Given the description of an element on the screen output the (x, y) to click on. 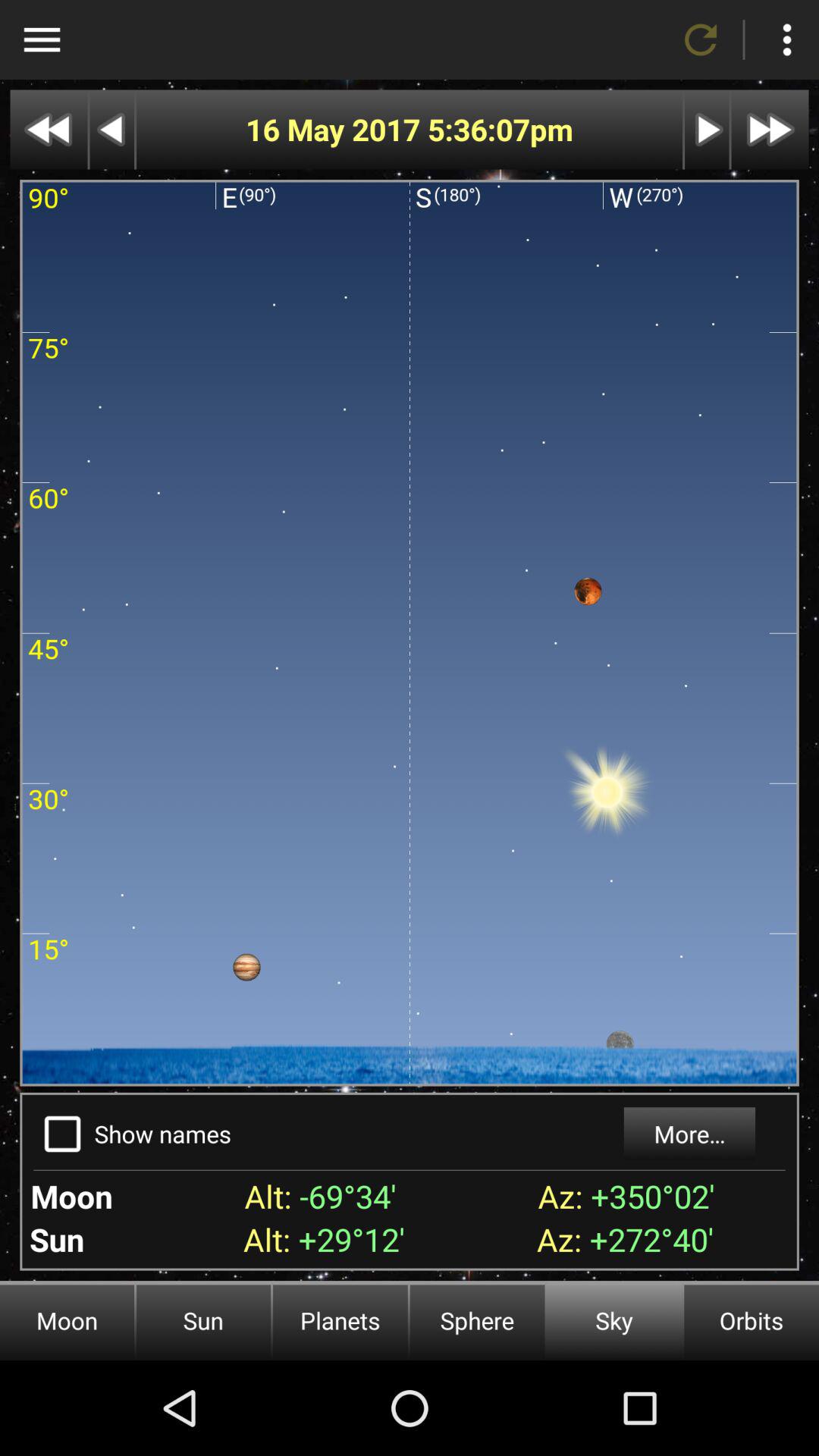
open icon to the right of 16 may 2017  item (478, 129)
